Given the description of an element on the screen output the (x, y) to click on. 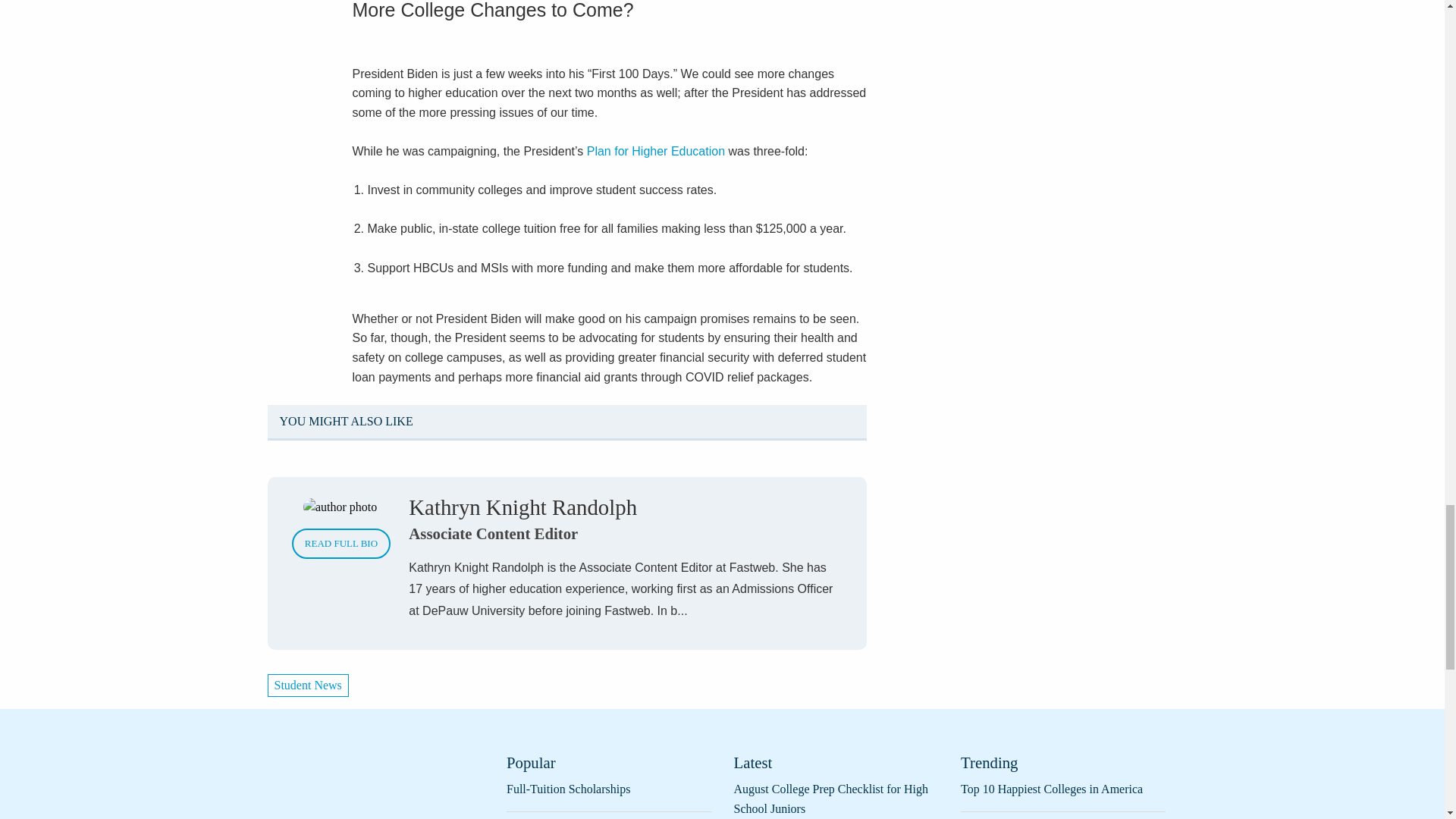
Kathryn Knight Randolph, Fastweb (340, 506)
